Given the description of an element on the screen output the (x, y) to click on. 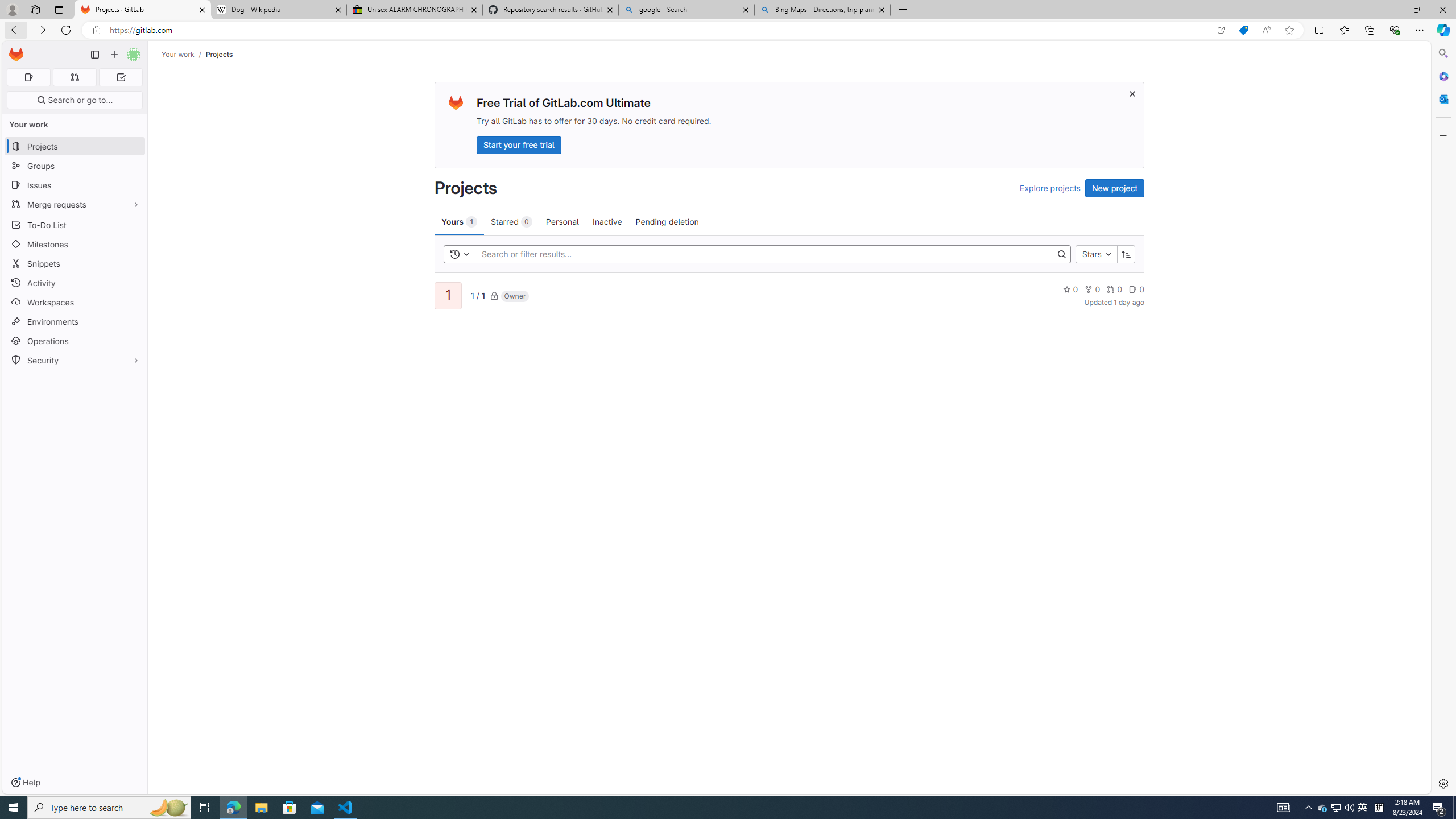
0 (1136, 288)
